Given the description of an element on the screen output the (x, y) to click on. 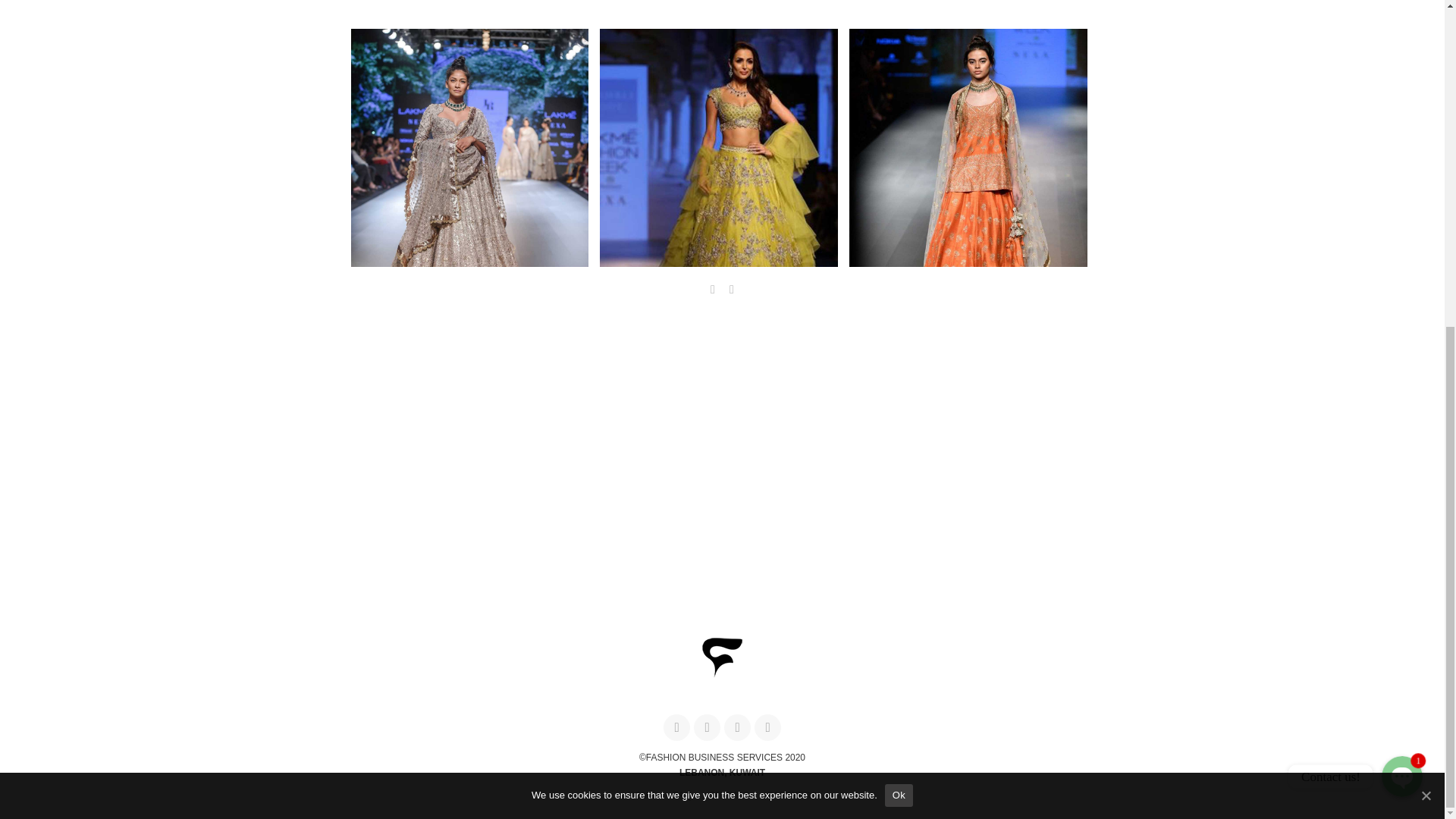
Instagram (707, 727)
Facebook (676, 727)
Youtube (767, 727)
next slide (731, 289)
Youtube (767, 727)
FABUSSE (721, 674)
previous slide (712, 289)
Instagram (707, 727)
LinkedIn (737, 727)
Facebook (676, 727)
LinkedIn (737, 727)
